Given the description of an element on the screen output the (x, y) to click on. 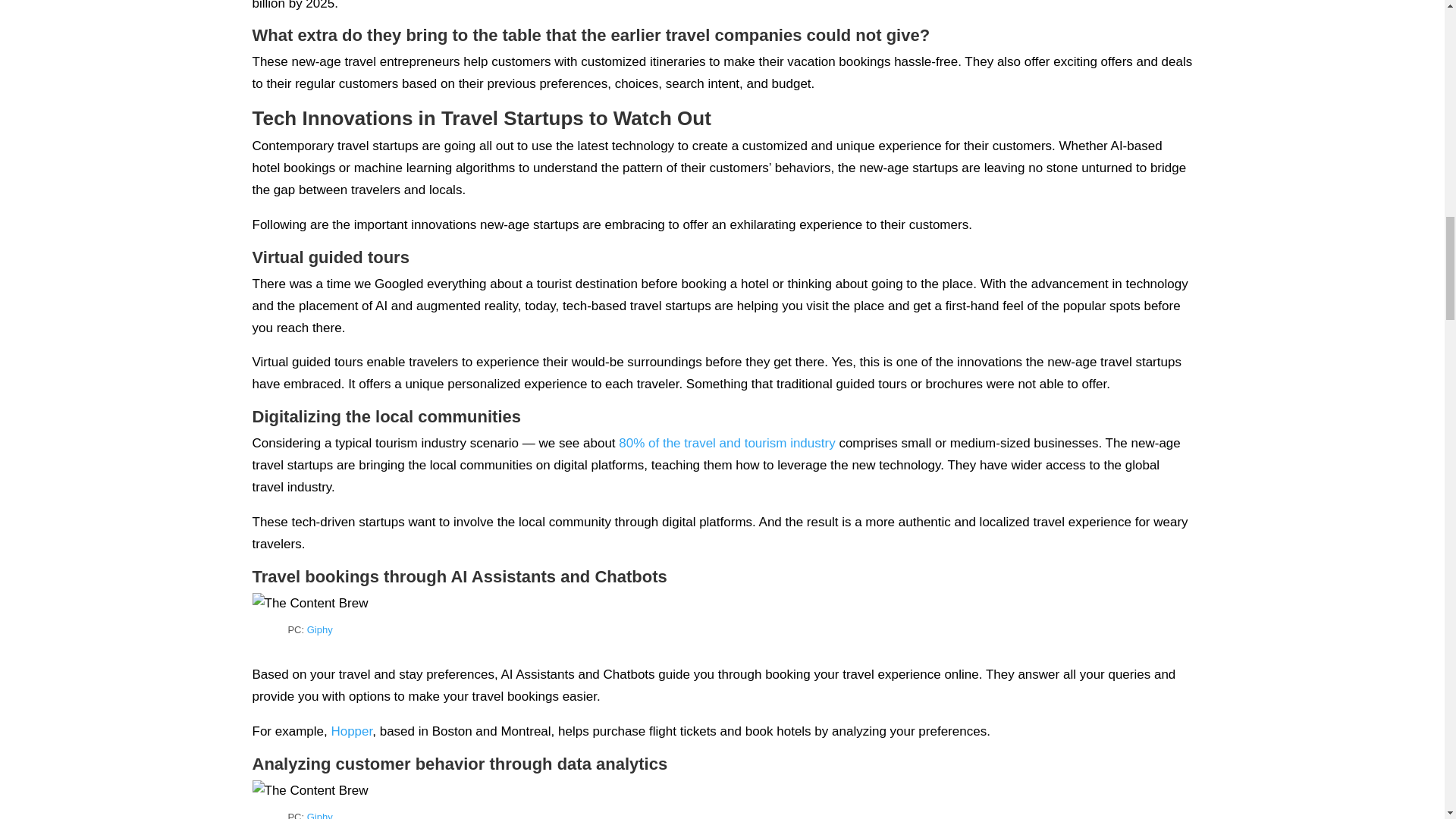
Giphy (320, 629)
Giphy (320, 815)
Hopper (351, 730)
